Given the description of an element on the screen output the (x, y) to click on. 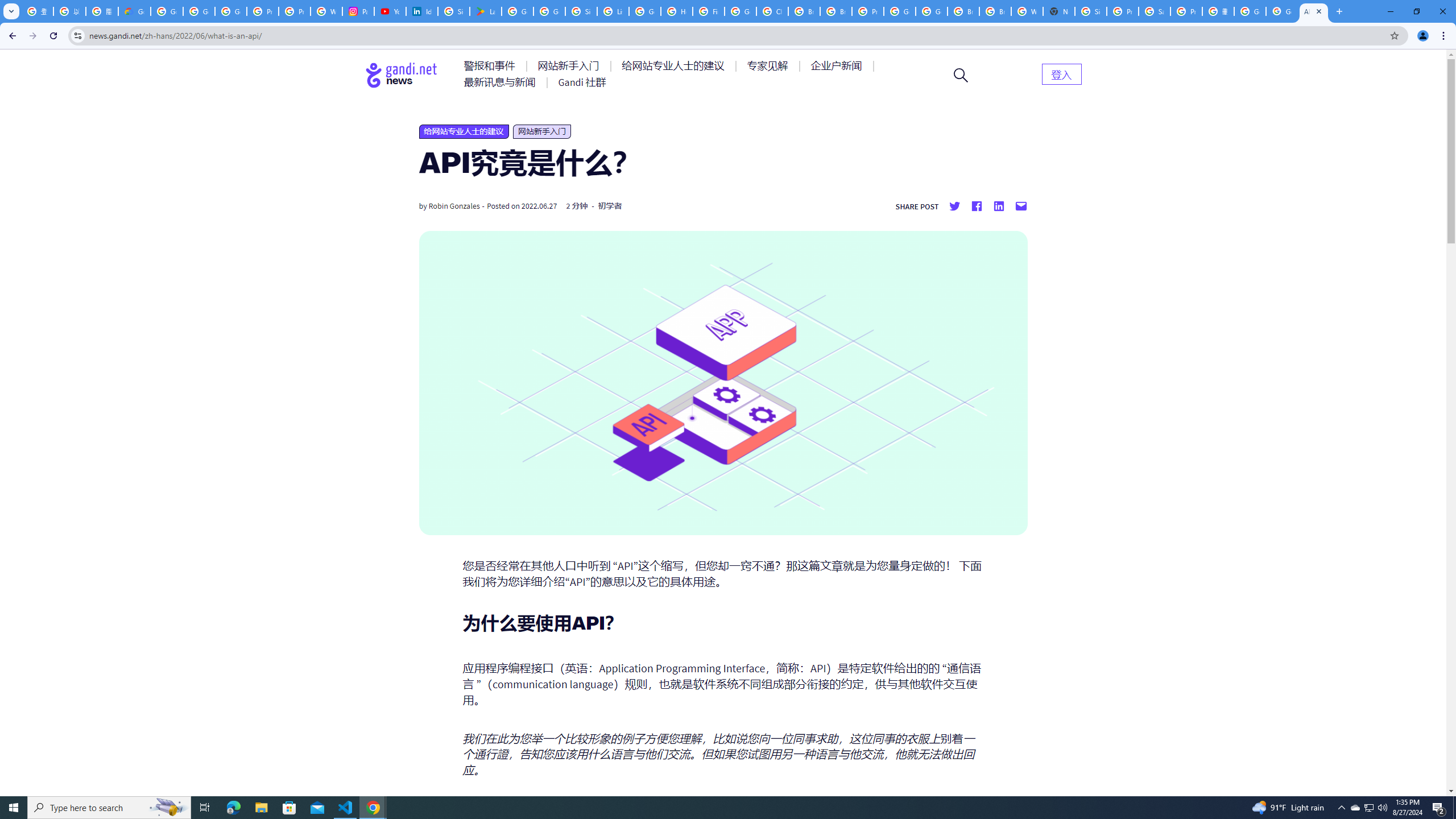
Browse Chrome as a guest - Computer - Google Chrome Help (804, 11)
AutomationID: menu-item-77765 (838, 65)
Open search form (960, 74)
Share by mail (1020, 205)
Google Cloud Platform (899, 11)
